Given the description of an element on the screen output the (x, y) to click on. 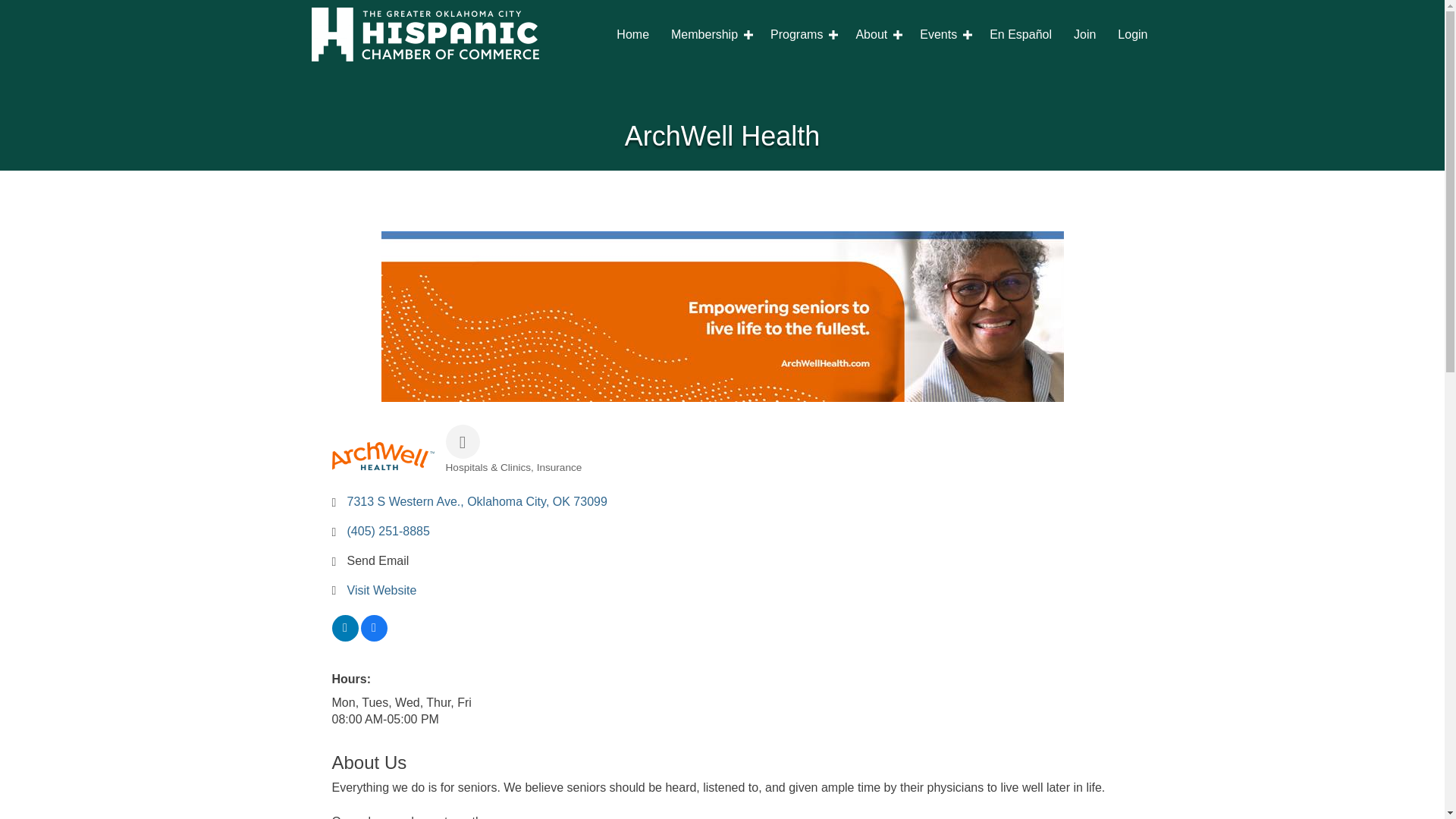
White-1080x720 (424, 34)
ArchWell Health (382, 456)
Home (632, 34)
7313 S Western Ave. Oklahoma City OK 73099 (477, 501)
Events (943, 34)
Send Email (378, 560)
Membership (709, 34)
Visit Website (381, 590)
Programs (802, 34)
View on LinkedIn (344, 636)
